Given the description of an element on the screen output the (x, y) to click on. 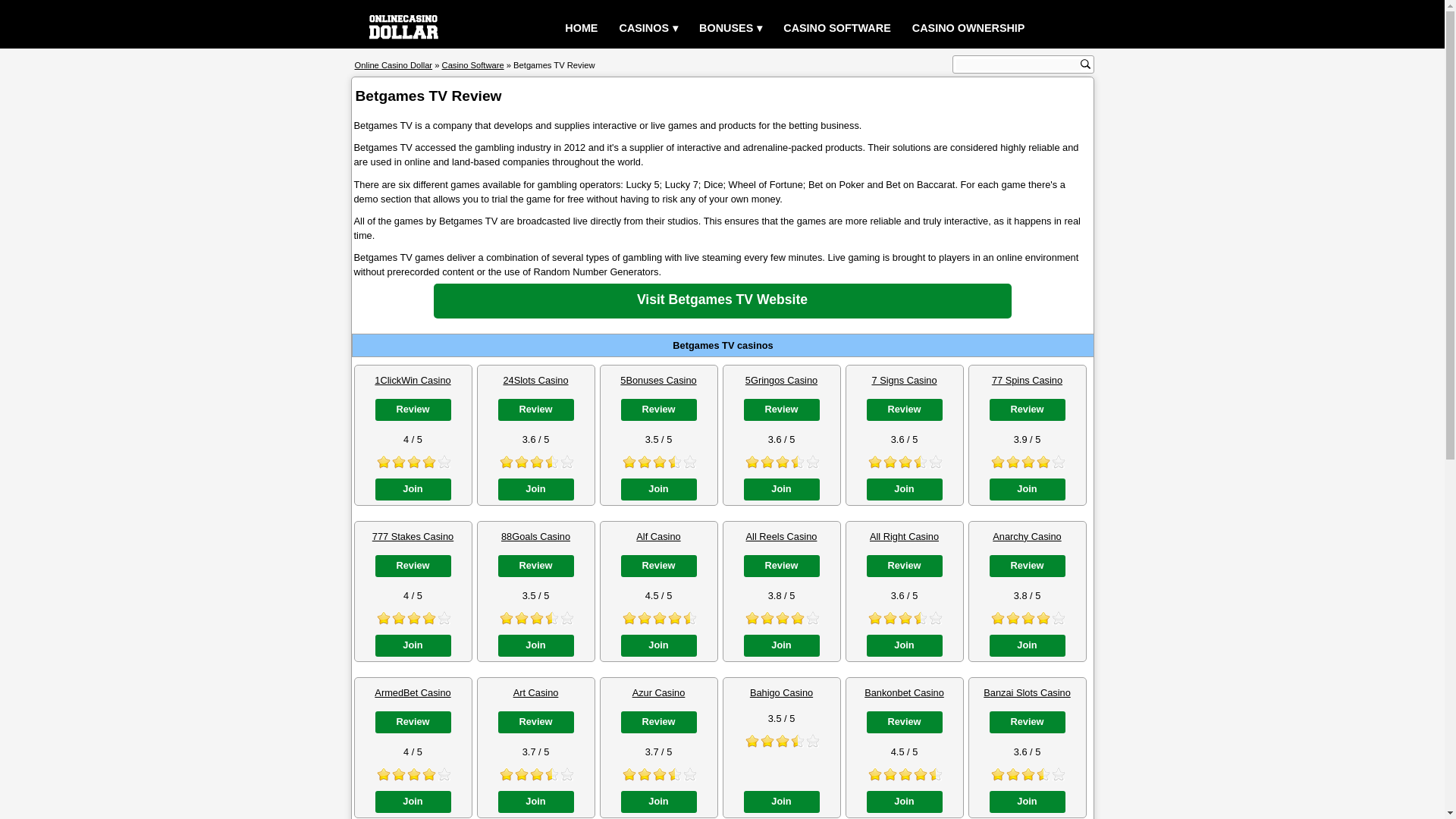
Review (780, 409)
CASINO OWNERSHIP (968, 28)
777 Stakes Casino (412, 536)
Visit Betgames TV Website (722, 300)
5Bonuses Casino (657, 379)
Review (904, 409)
Join (411, 489)
Review (411, 409)
Review (657, 409)
77 Spins Casino (1026, 379)
